Given the description of an element on the screen output the (x, y) to click on. 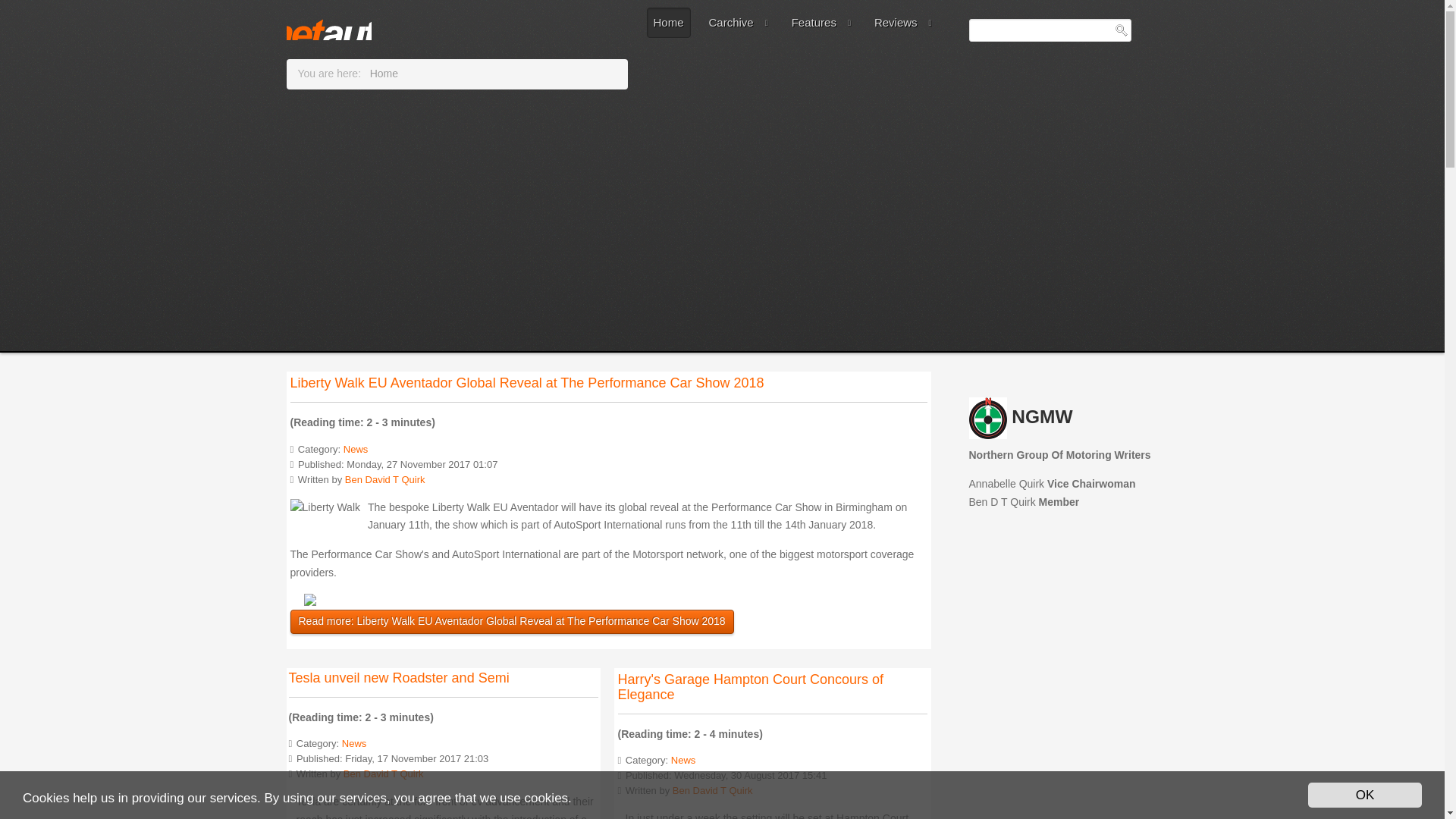
Carchive (738, 22)
Home (668, 22)
